Given the description of an element on the screen output the (x, y) to click on. 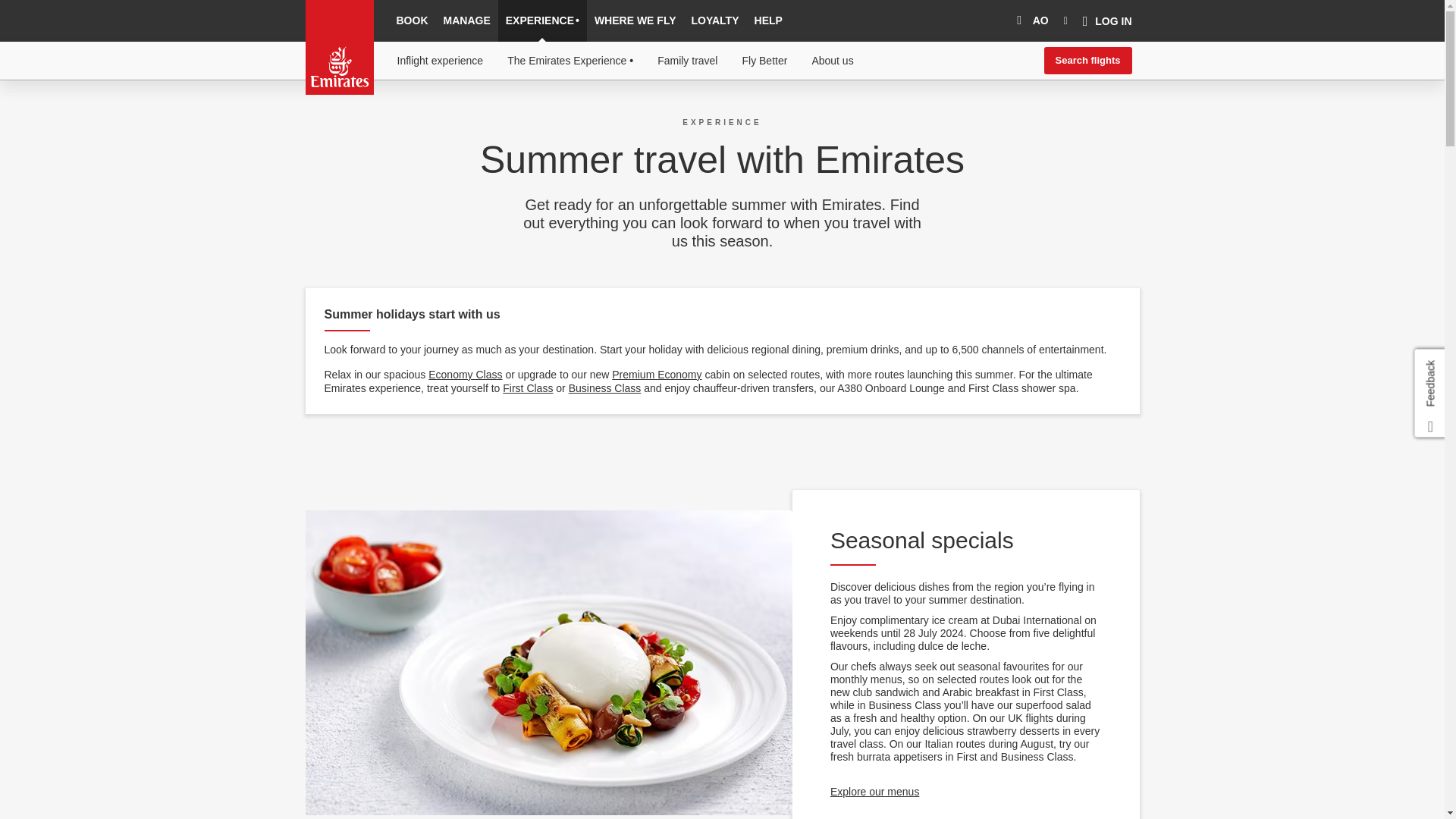
Skip to the main content (382, 116)
Accessibility information (383, 116)
Business Class  (605, 387)
WHERE WE FLY (635, 20)
BOOK (411, 20)
HELP (768, 20)
Search flights (1087, 60)
Premium Economy  (656, 374)
First Class  (527, 387)
AO (1030, 20)
MANAGE (466, 20)
LOG IN (1107, 20)
LOYALTY (715, 20)
Economy Class (465, 374)
